Given the description of an element on the screen output the (x, y) to click on. 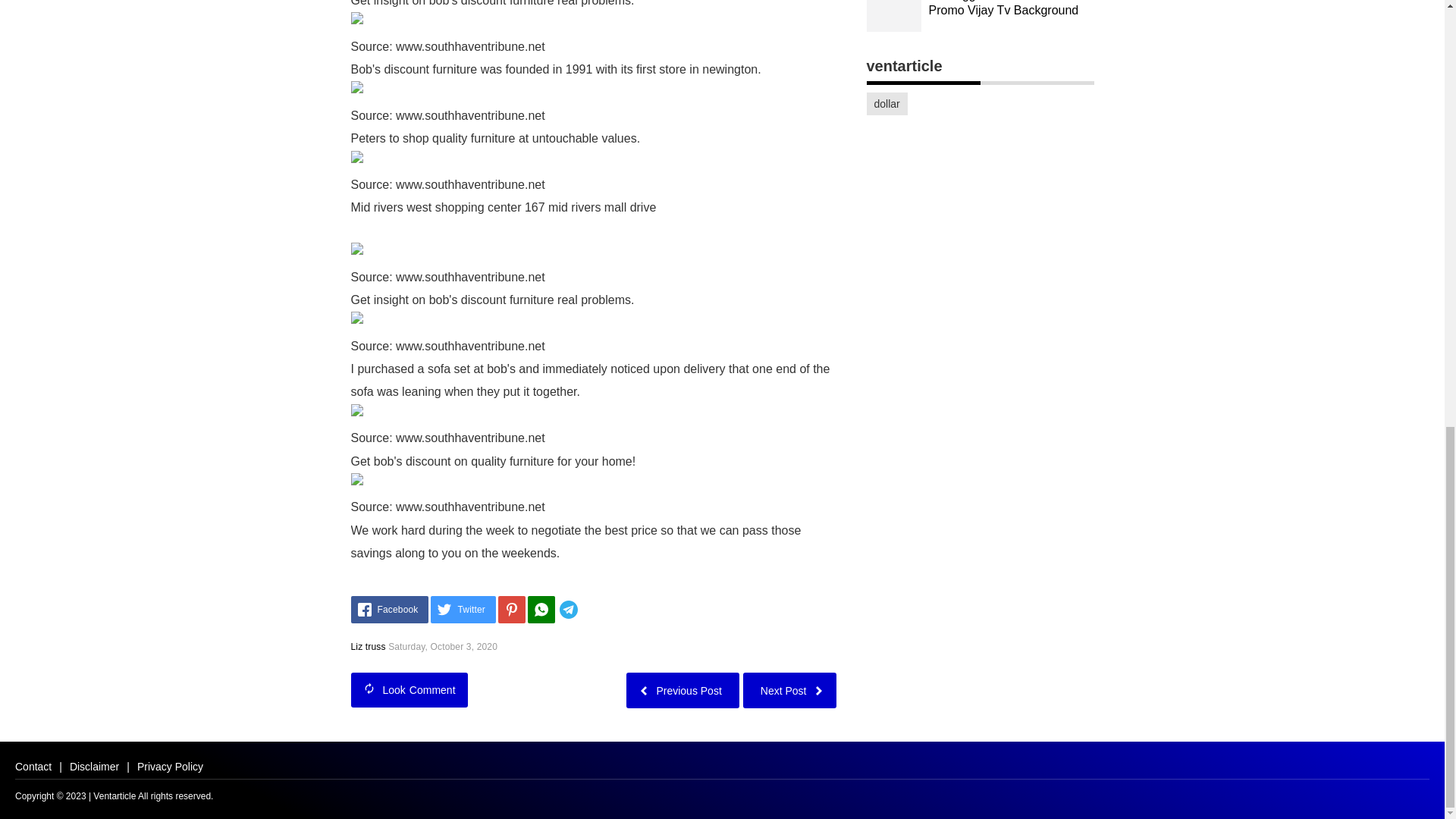
Telegram (590, 609)
Share to Telegram (590, 609)
Older Post (682, 690)
Liz truss (367, 646)
author profile (367, 646)
Previous Post (682, 690)
Share on Pinterest (511, 609)
Next Post (788, 690)
Twitter (462, 609)
Facebook (389, 609)
